Given the description of an element on the screen output the (x, y) to click on. 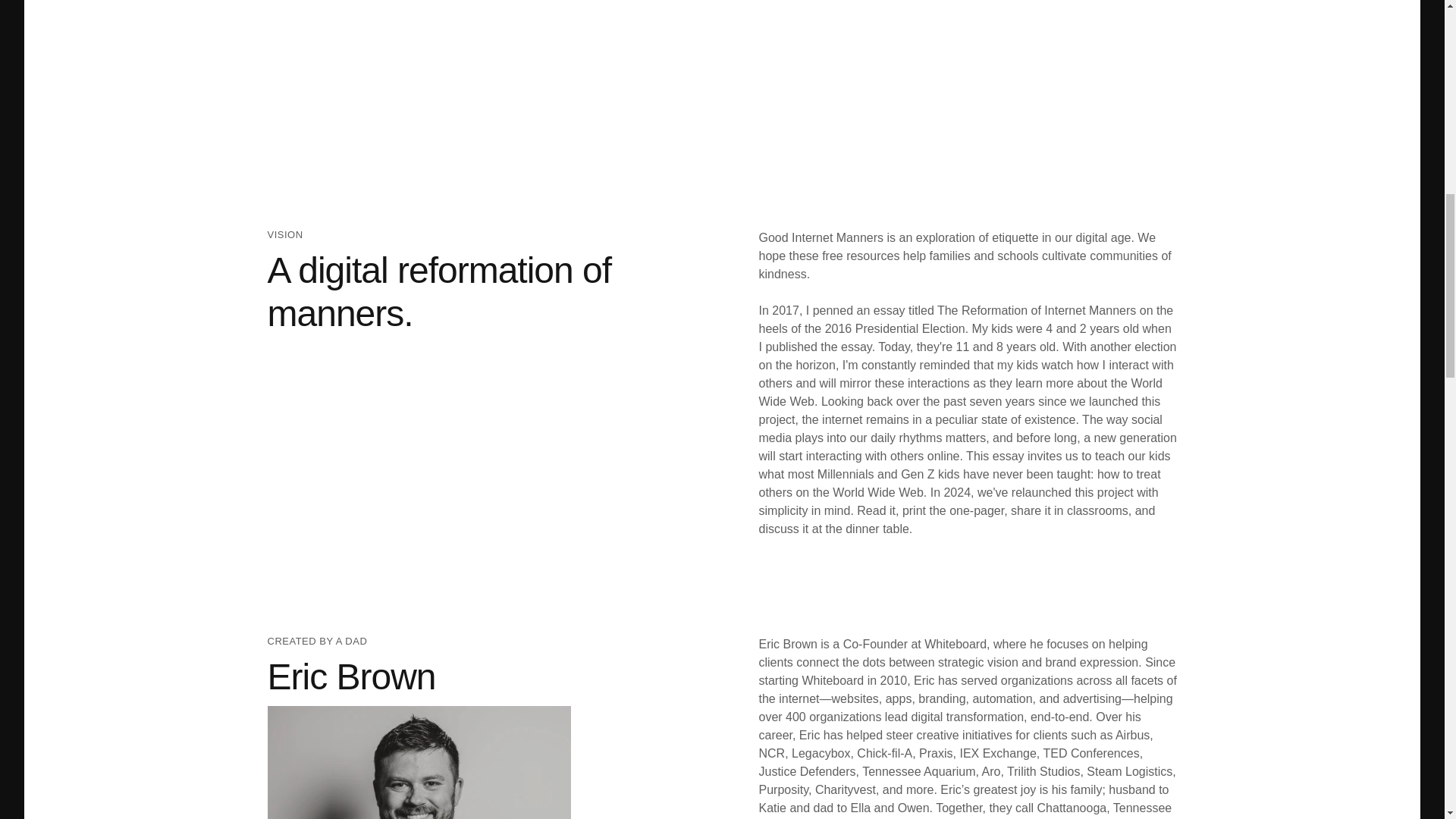
Whiteboard (955, 644)
The Reformation of Internet Manners (1036, 309)
